Given the description of an element on the screen output the (x, y) to click on. 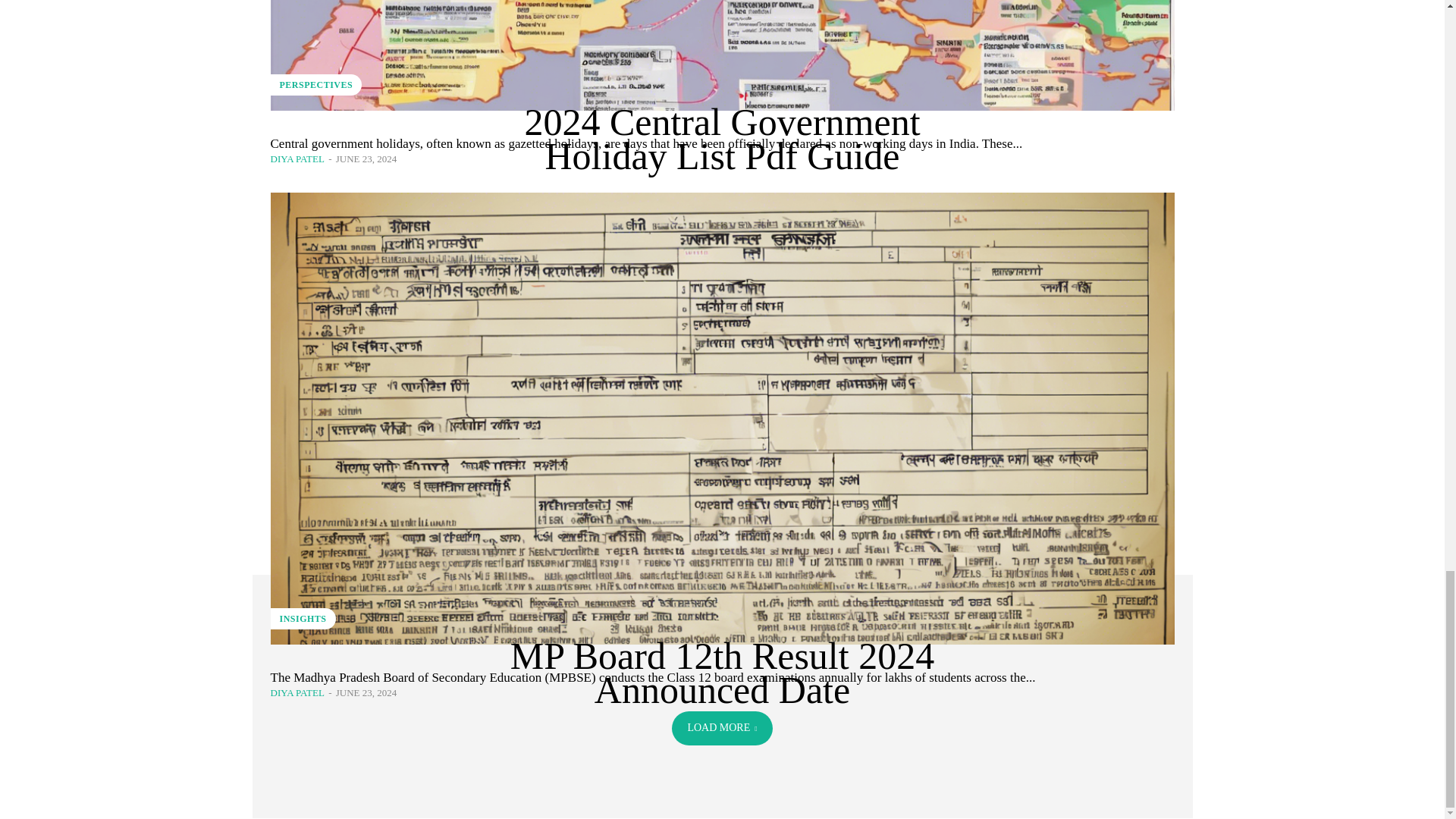
2024 Central Government Holiday List Pdf Guide (721, 55)
2024 Central Government Holiday List Pdf Guide (722, 138)
MP Board 12th Result 2024 Announced Date (722, 672)
